Given the description of an element on the screen output the (x, y) to click on. 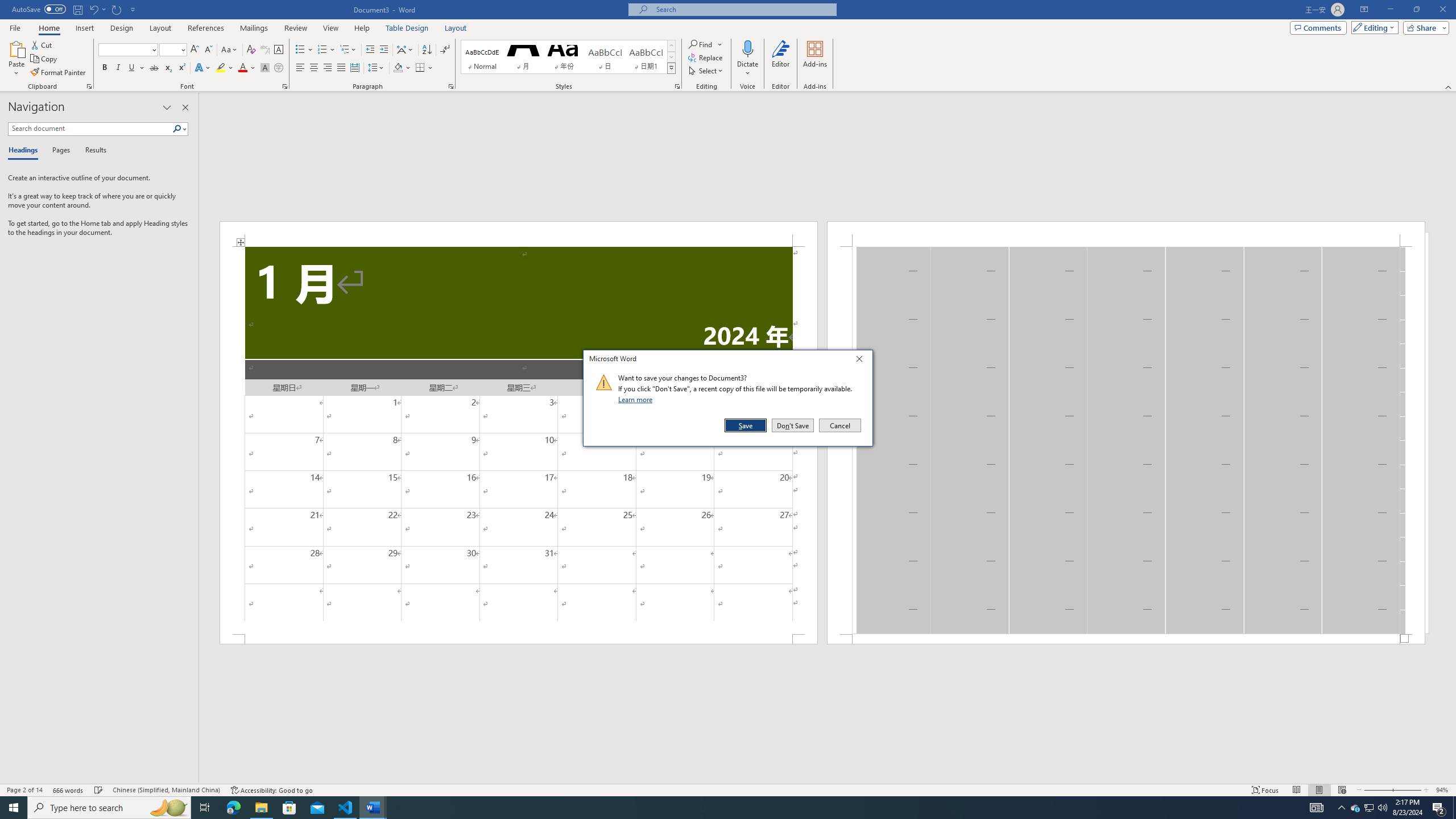
Shading RGB(0, 0, 0) (397, 67)
Strikethrough (154, 67)
Cut (42, 44)
Line and Paragraph Spacing (376, 67)
Change Case (229, 49)
Select (705, 69)
Text Highlight Color Yellow (220, 67)
